Given the description of an element on the screen output the (x, y) to click on. 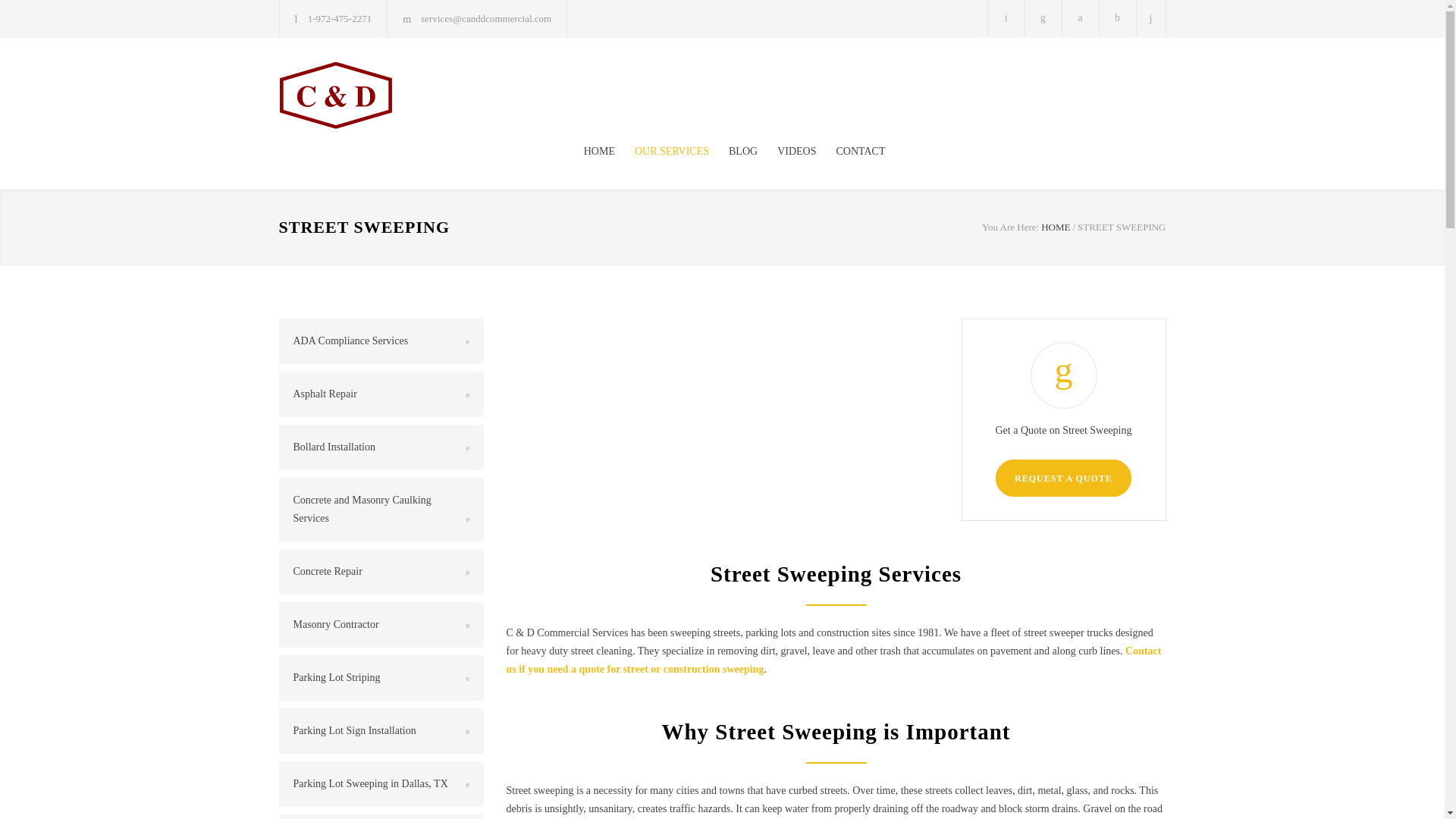
REQUEST A QUOTE (1063, 477)
1-972-475-2271 (339, 18)
CONTACT (850, 151)
Home (1055, 226)
BLOG (733, 151)
VIDEOS (786, 151)
OUR SERVICES (661, 151)
